Given the description of an element on the screen output the (x, y) to click on. 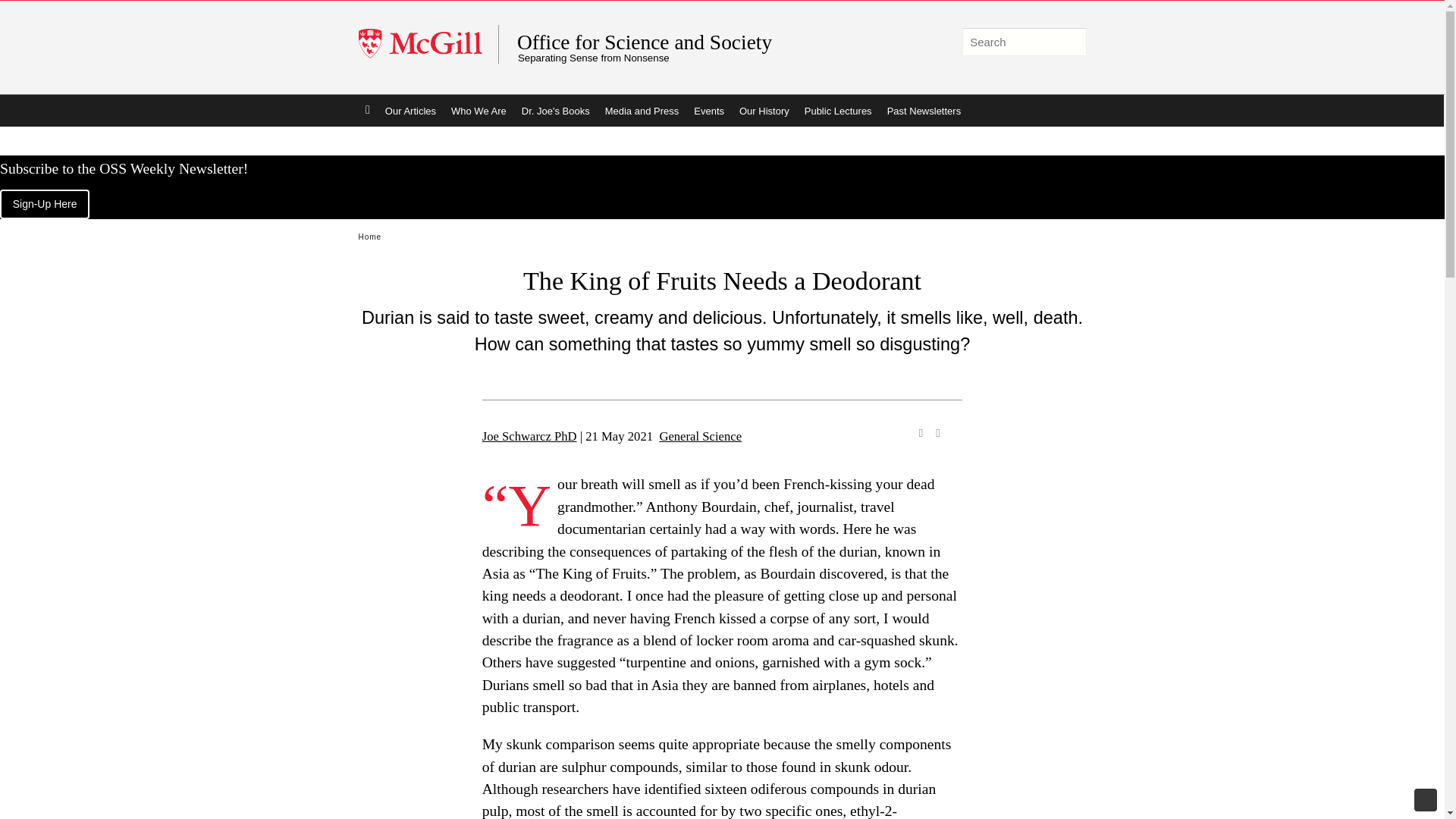
Who We Are (478, 110)
McGill University (427, 44)
Share on Facebook (920, 431)
Home (367, 110)
Public Lectures (837, 110)
Events (708, 110)
Search (1070, 42)
Our Articles (410, 110)
Past Newsletters (924, 110)
General Science (700, 436)
Joe Schwarcz PhD (528, 436)
Media and Press (641, 110)
Dr. Joe's Books (554, 110)
Sign-Up Here (44, 204)
